Given the description of an element on the screen output the (x, y) to click on. 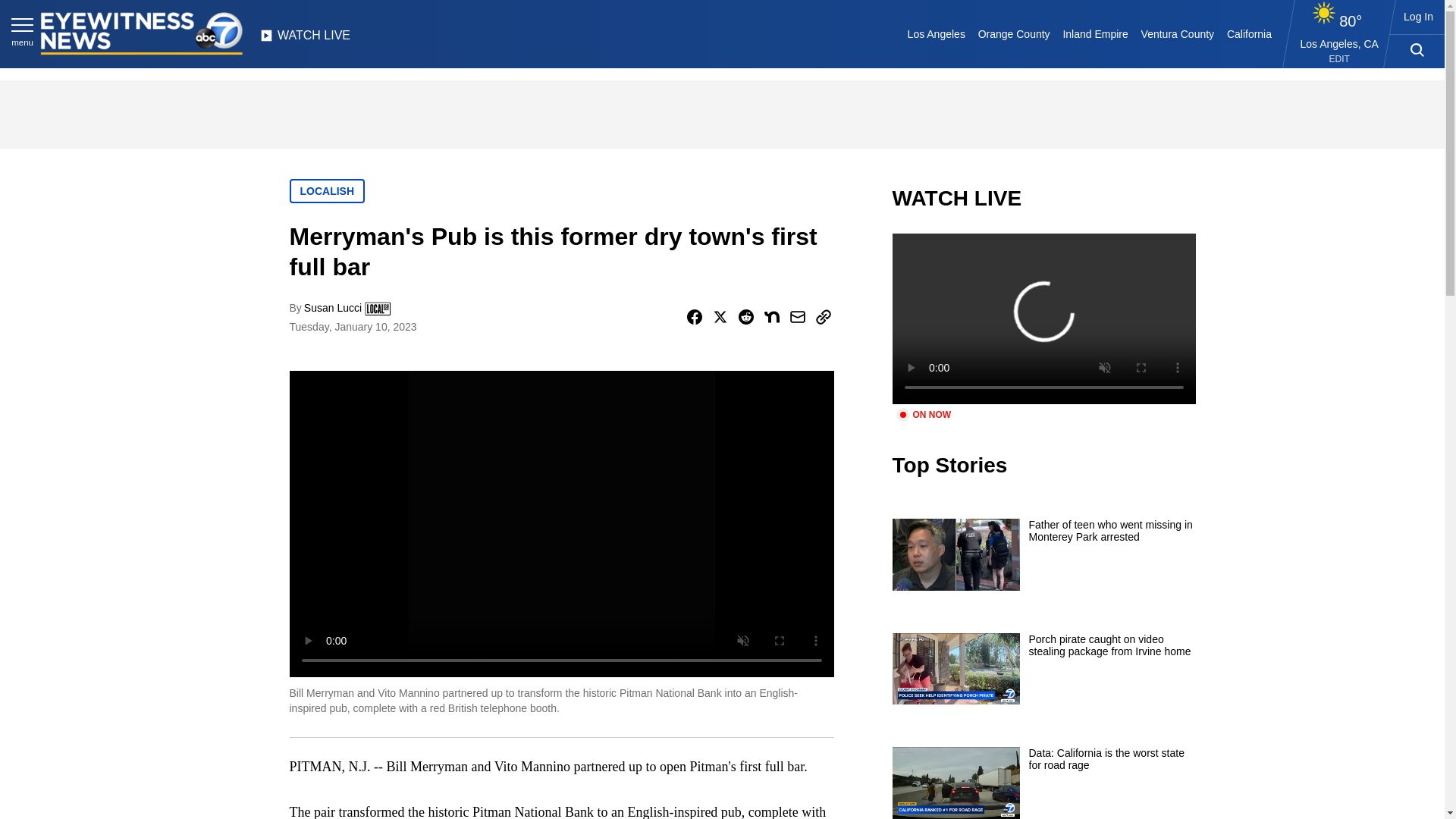
WATCH LIVE (305, 39)
video.title (1043, 318)
EDIT (1339, 59)
California (1249, 33)
Ventura County (1177, 33)
Orange County (1014, 33)
Los Angeles (936, 33)
Los Angeles, CA (1339, 43)
Inland Empire (1095, 33)
